Given the description of an element on the screen output the (x, y) to click on. 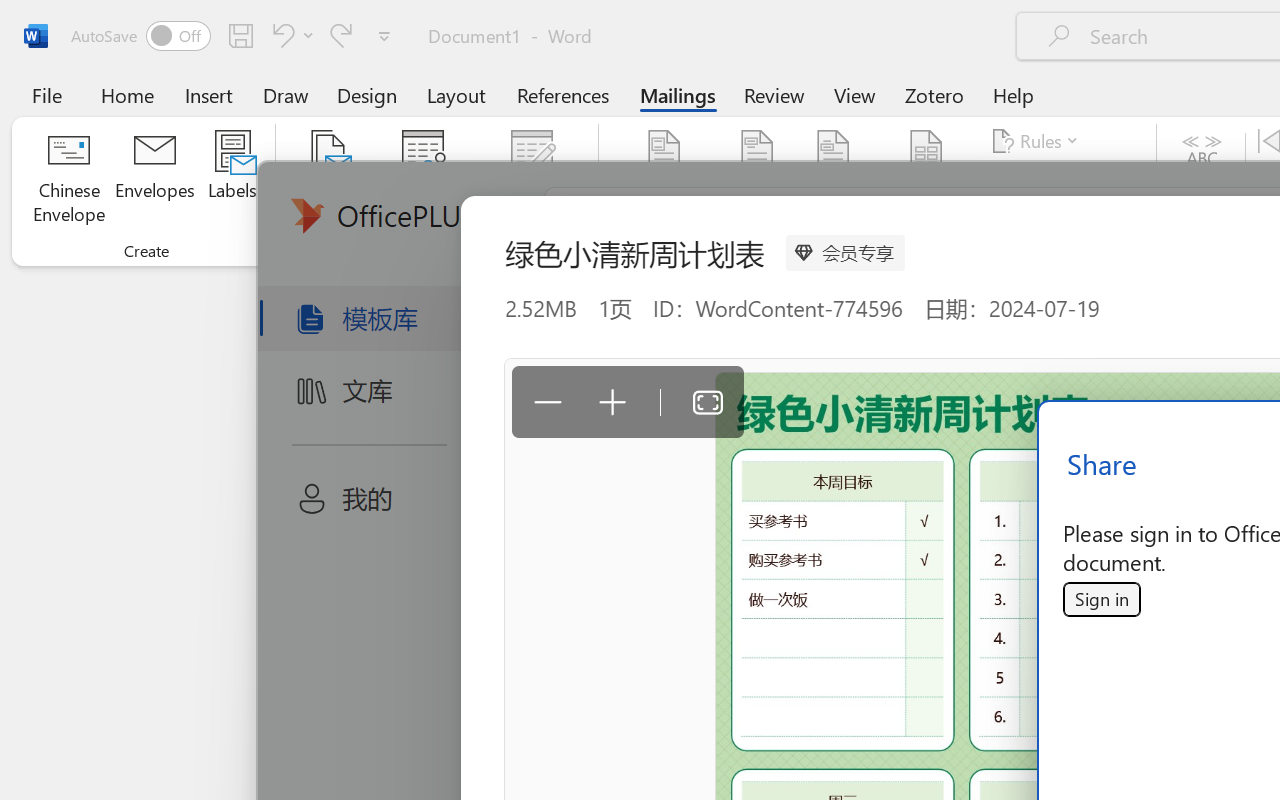
Redo Apply Quick Style (341, 35)
Insert Merge Field (927, 151)
Address Block... (757, 179)
Undo Apply Quick Style Set (280, 35)
Labels... (232, 179)
Preview Results (1202, 179)
